Given the description of an element on the screen output the (x, y) to click on. 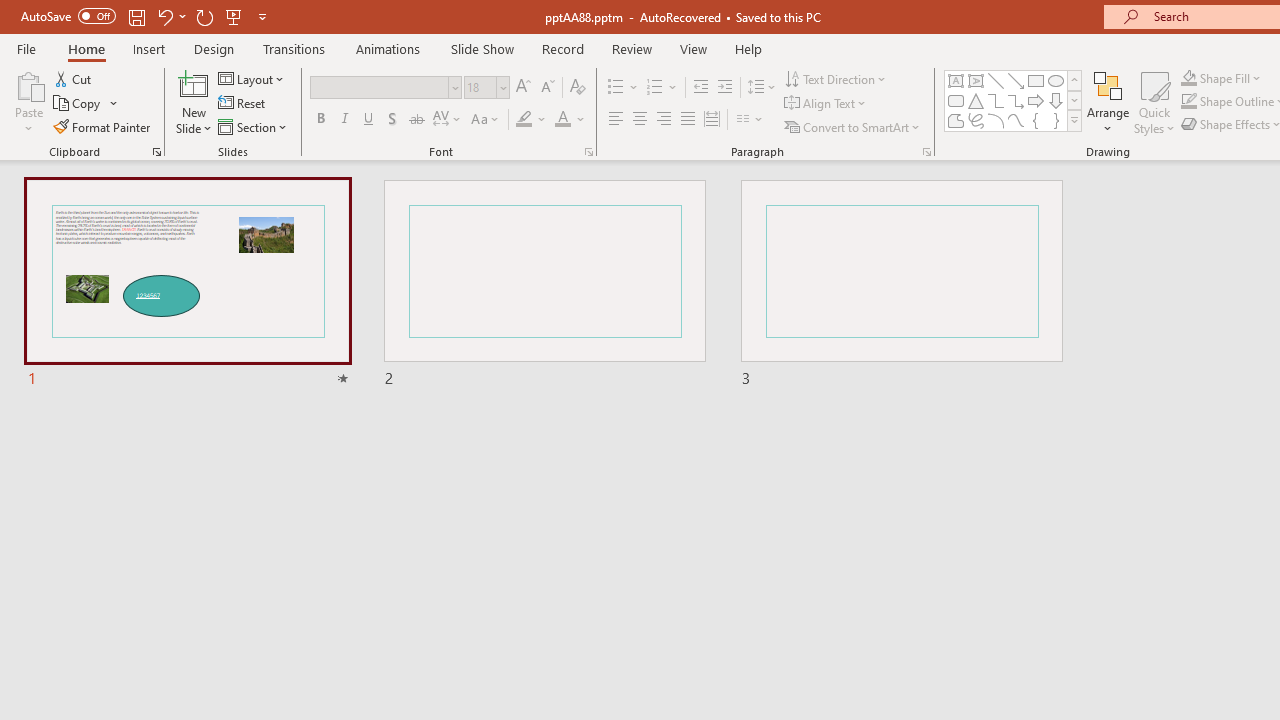
Arc (995, 120)
Right Brace (1055, 120)
Open (502, 87)
Layout (252, 78)
Curve (1016, 120)
Undo (164, 15)
Slide (901, 284)
Center (639, 119)
Row Down (1074, 100)
System (10, 11)
File Tab (26, 48)
Paste (28, 84)
Help (748, 48)
Text Highlight Color (531, 119)
Copy (85, 103)
